Given the description of an element on the screen output the (x, y) to click on. 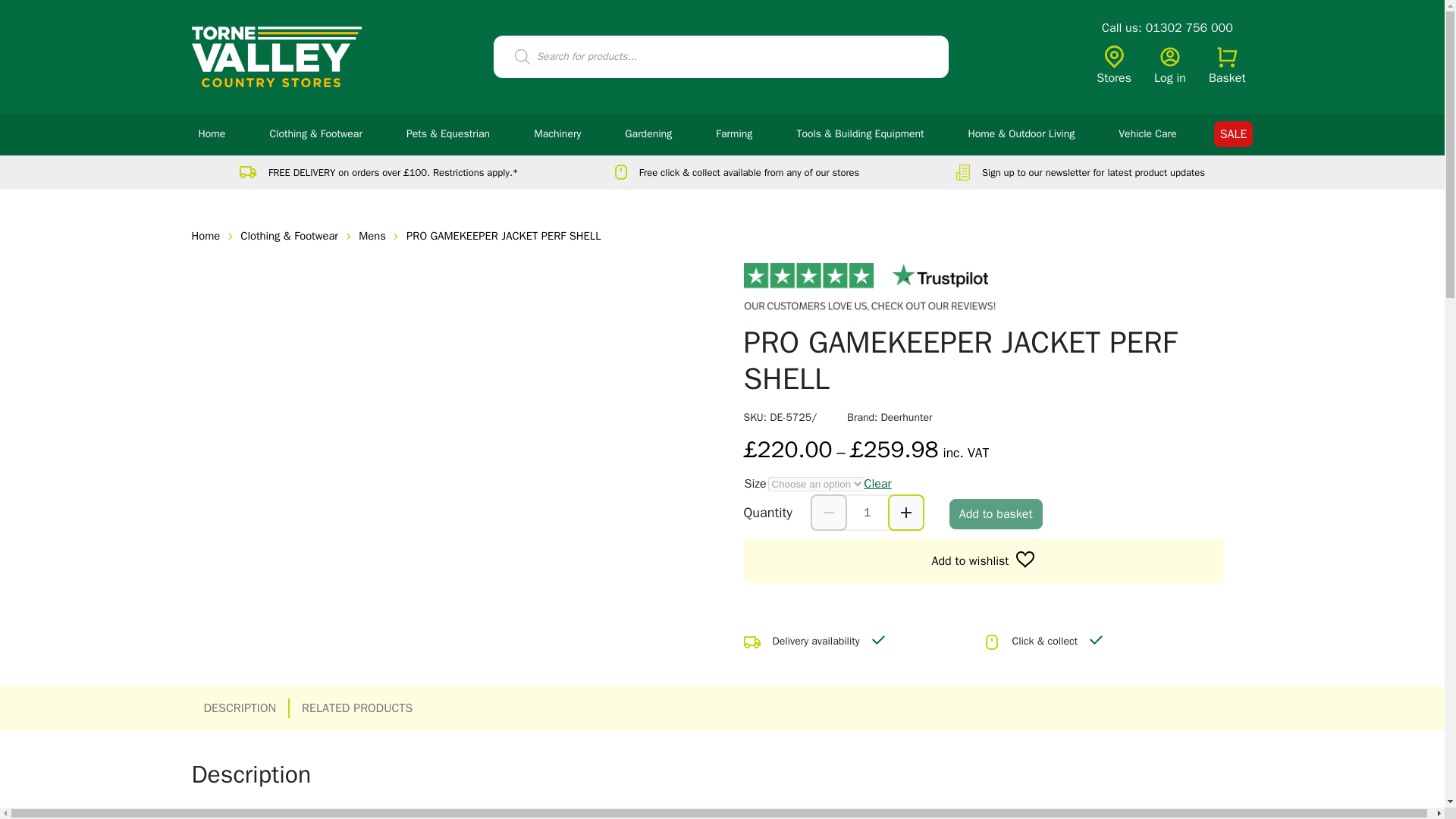
RELATED PRODUCTS (356, 708)
Call us: 01302 756 000 (1167, 28)
Basket (1227, 66)
Store Finder (1113, 66)
Stores (1113, 66)
Call us: 01302 756 000 (1167, 28)
DESCRIPTION (239, 708)
Sign up to our newsletter for latest product updates (1080, 172)
Log in (1170, 66)
Log in (1170, 66)
1 (867, 512)
Home (211, 134)
Basket (1227, 66)
Qty (867, 512)
